Given the description of an element on the screen output the (x, y) to click on. 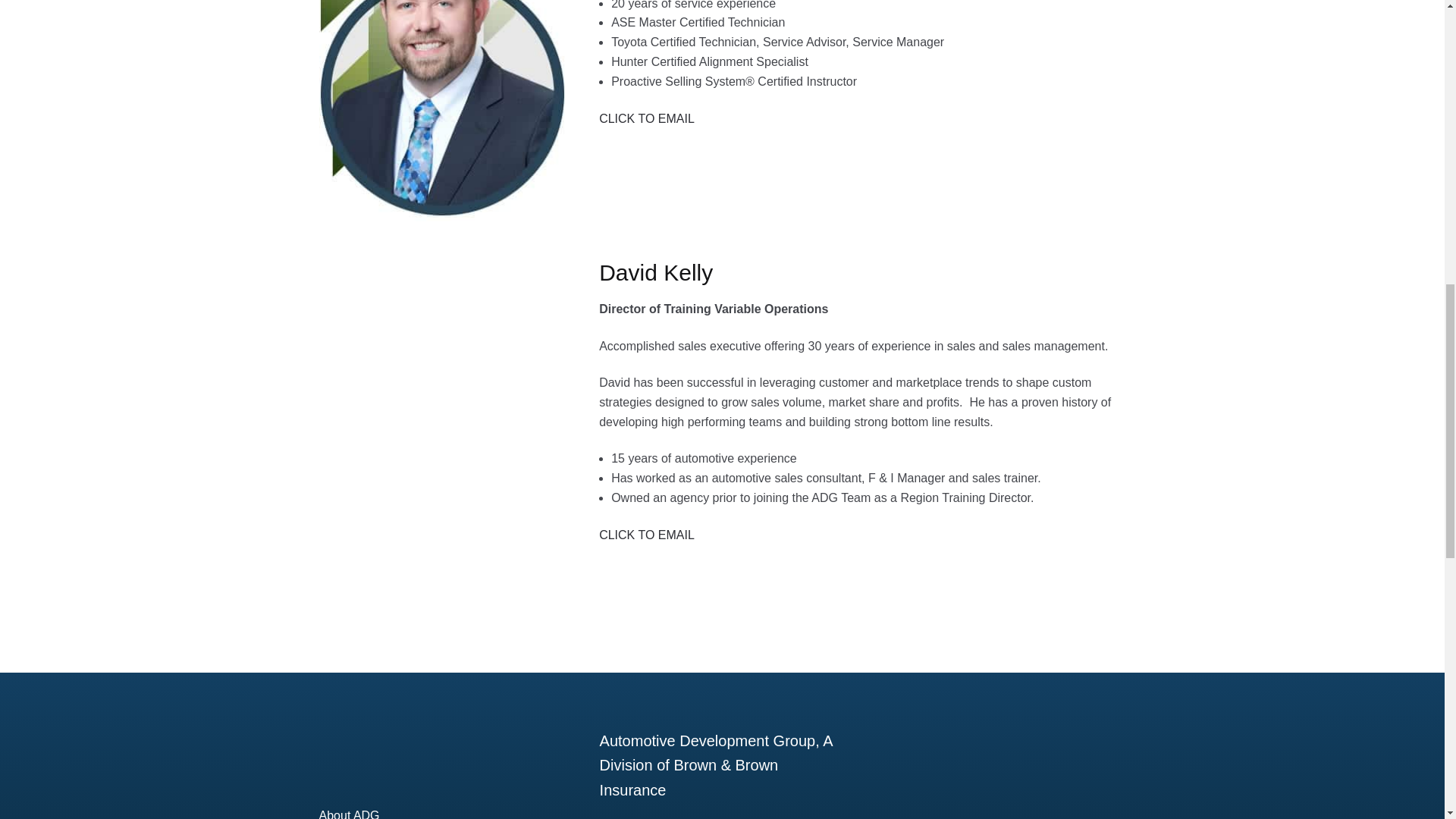
Dan Hahn (442, 110)
